Given the description of an element on the screen output the (x, y) to click on. 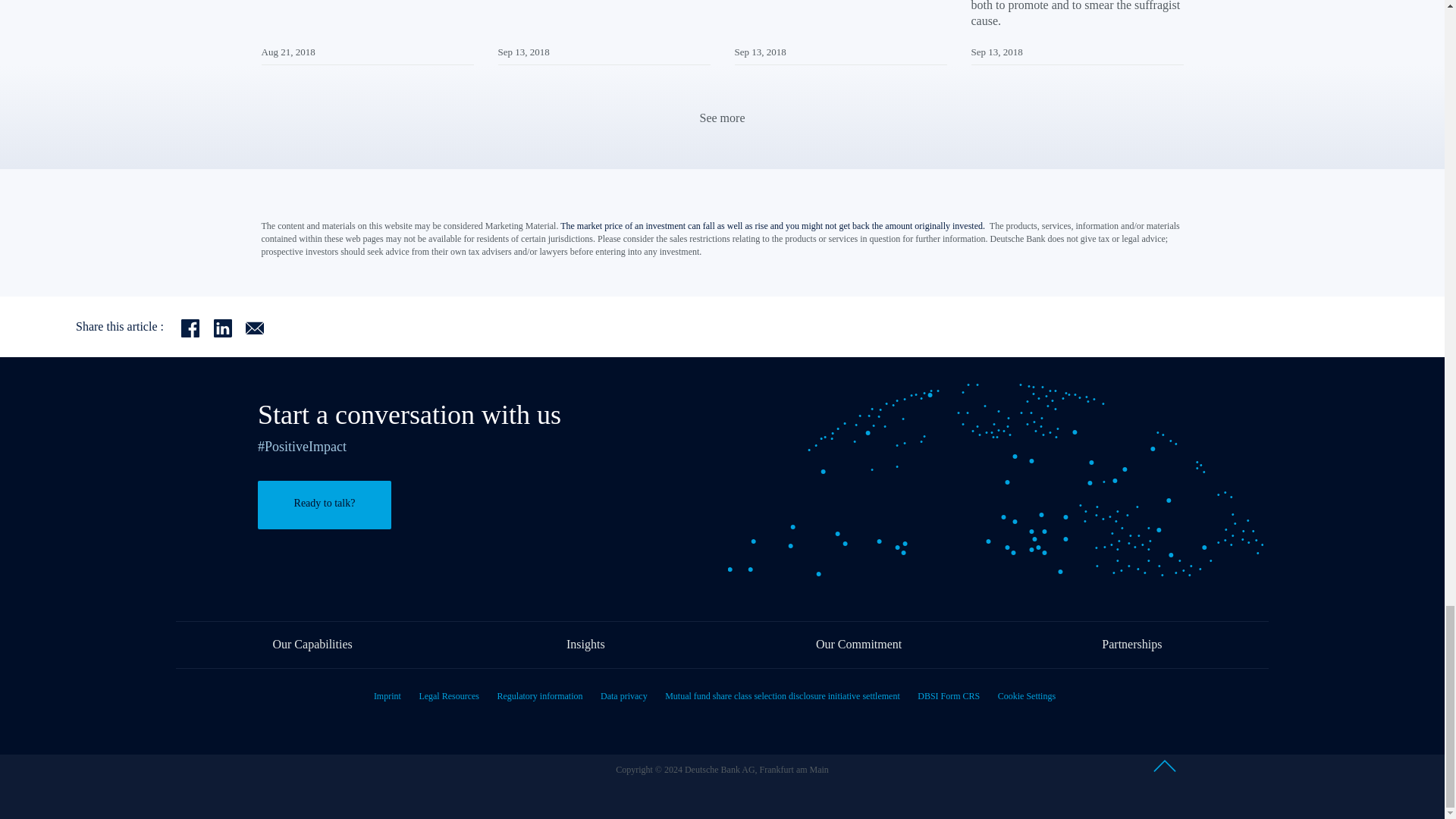
Share by Email (260, 326)
Share on LinkedIn (230, 326)
Share on Facebook (197, 326)
